Given the description of an element on the screen output the (x, y) to click on. 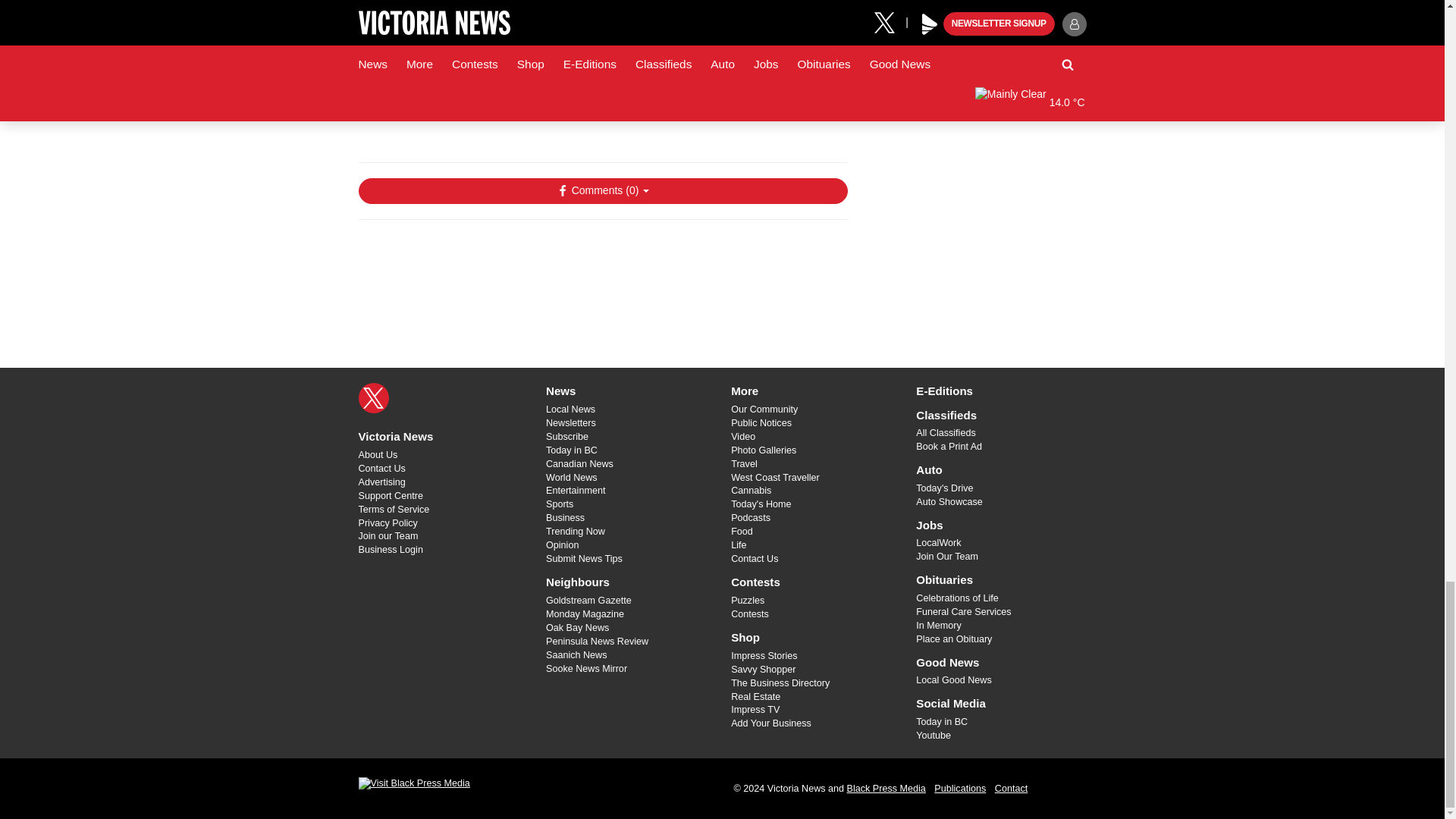
X (373, 398)
Show Comments (602, 190)
